Given the description of an element on the screen output the (x, y) to click on. 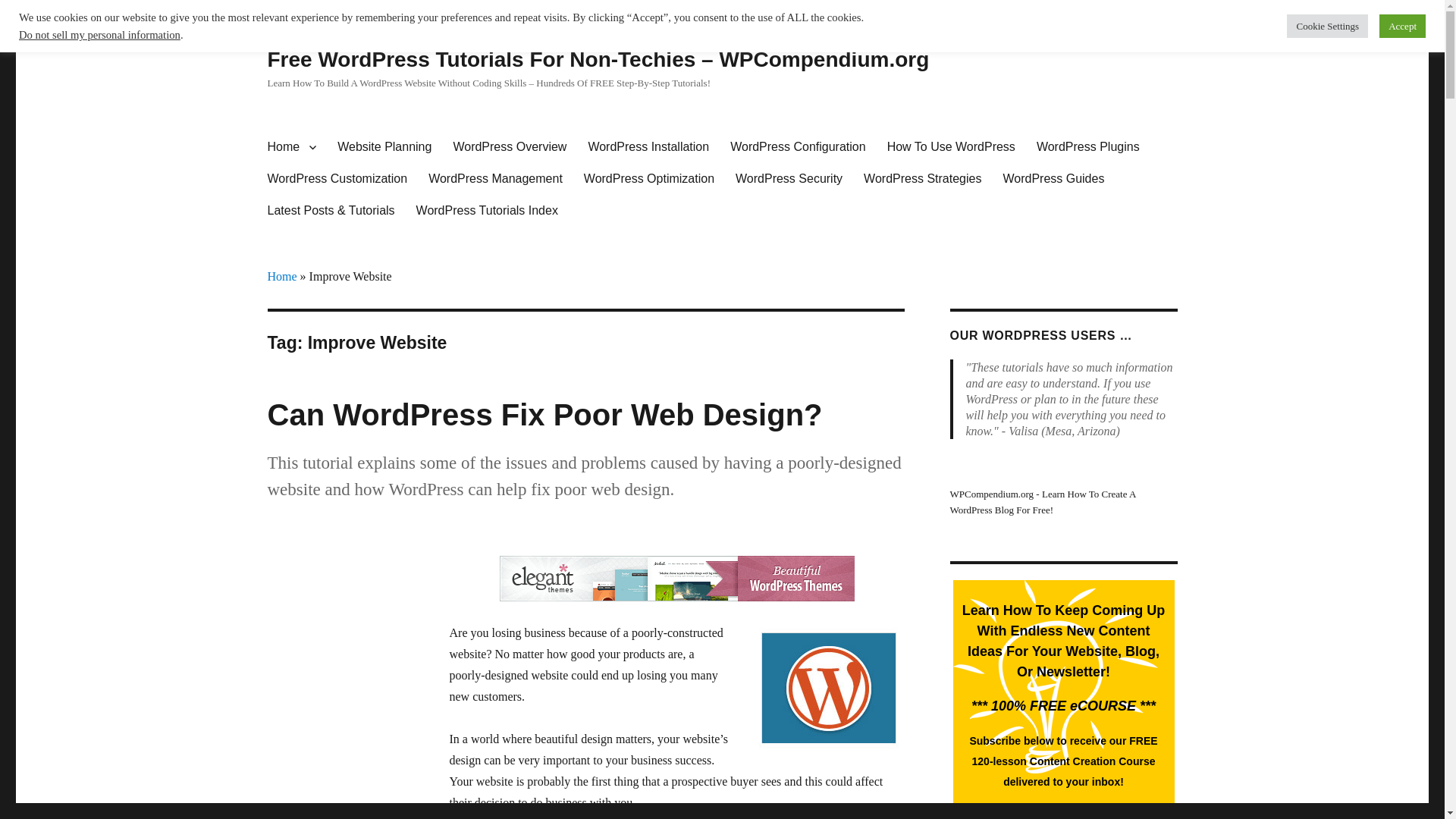
WordPress Plugins (1088, 146)
Website Planning (384, 146)
WordPress Tutorials Index (487, 210)
How To Use WordPress (951, 146)
Home (281, 276)
WordPress Overview (509, 146)
WordPress Configuration (797, 146)
WordPress Optimization (649, 178)
Can WordPress Fix Poor Web Design? (544, 414)
WordPress Management (495, 178)
WordPress Installation (647, 146)
WordPress Security (789, 178)
WordPress Strategies (922, 178)
WordPress Guides (1053, 178)
Home (291, 146)
